Given the description of an element on the screen output the (x, y) to click on. 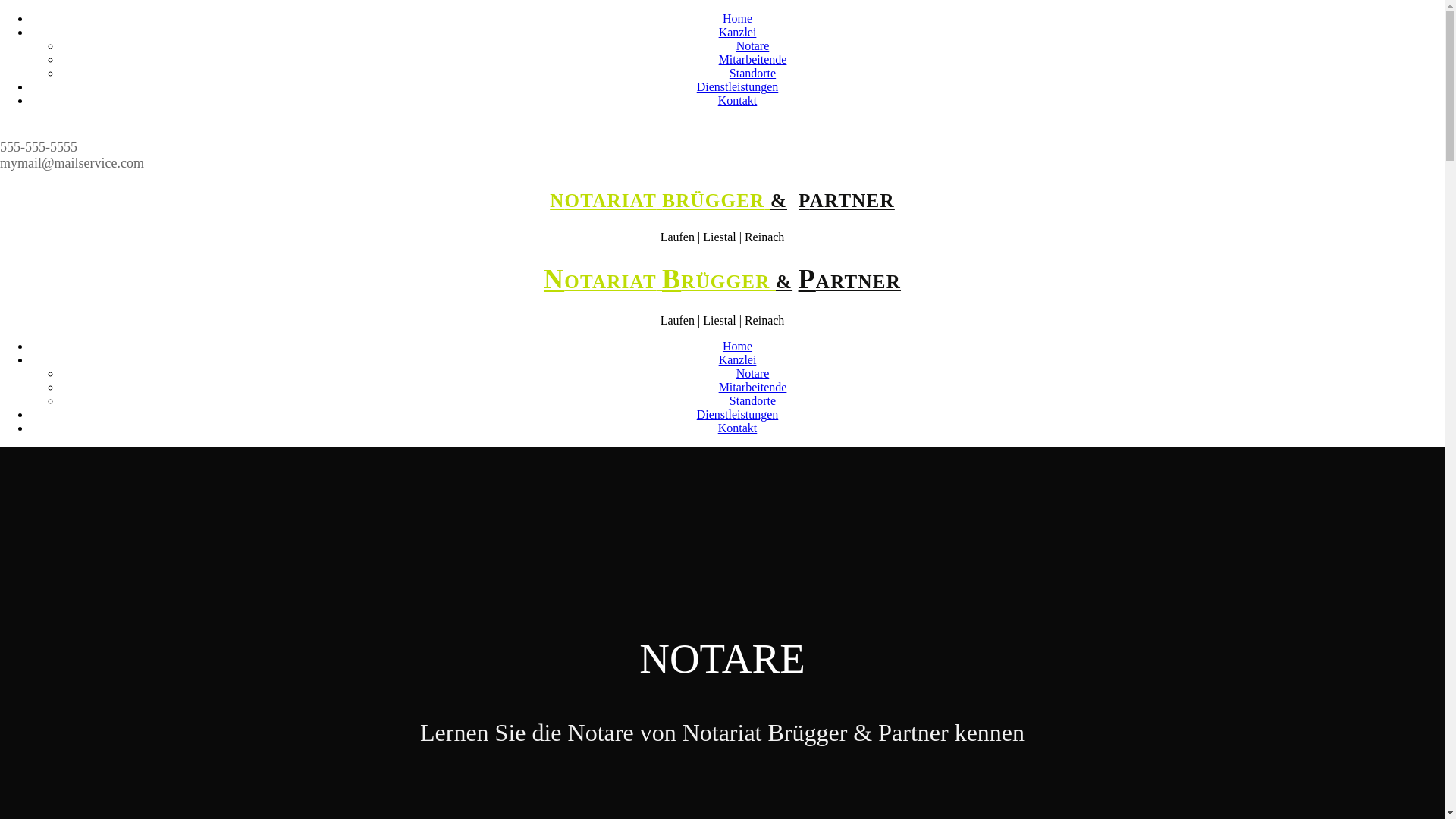
  Element type: text (773, 281)
& Element type: text (778, 200)
Home Element type: text (737, 18)
N Element type: text (556, 200)
Notare Element type: text (752, 45)
& Element type: text (783, 281)
Mitarbeitende Element type: text (752, 59)
Kanzlei Element type: text (737, 31)
OTARIAT Element type: text (609, 200)
ARTNER Element type: text (851, 200)
Kontakt Element type: text (737, 427)
  Element type: text (659, 281)
Dienstleistungen Element type: text (737, 413)
  Element type: text (767, 200)
N Element type: text (553, 278)
OTARIAT Element type: text (609, 281)
Mitarbeitende Element type: text (752, 386)
B Element type: text (671, 278)
Kanzlei Element type: text (737, 359)
  Element type: text (659, 200)
Kontakt Element type: text (737, 100)
ARTNER Element type: text (857, 281)
Standorte Element type: text (752, 72)
Home Element type: text (737, 345)
Dienstleistungen Element type: text (737, 86)
Notare Element type: text (752, 373)
Standorte Element type: text (752, 400)
P Element type: text (806, 278)
P Element type: text (803, 200)
